Given the description of an element on the screen output the (x, y) to click on. 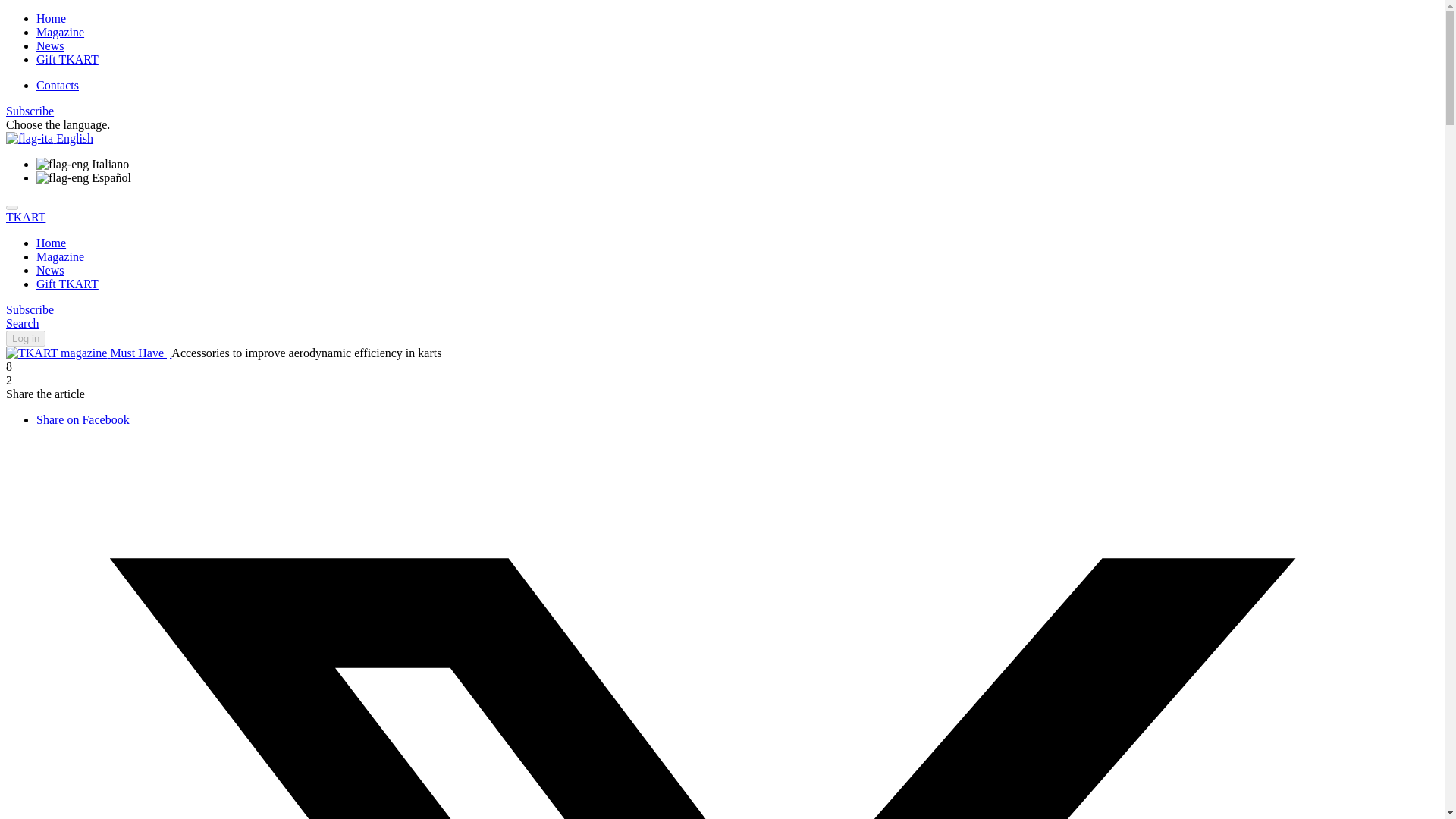
Home (50, 18)
Abbonati (29, 309)
Log in (25, 338)
Search (22, 323)
go to TKART Magazine home (57, 352)
News (50, 45)
Gift TKART (67, 283)
Subscribe (29, 110)
Cerca (22, 323)
Share on Facebook (82, 419)
